Given the description of an element on the screen output the (x, y) to click on. 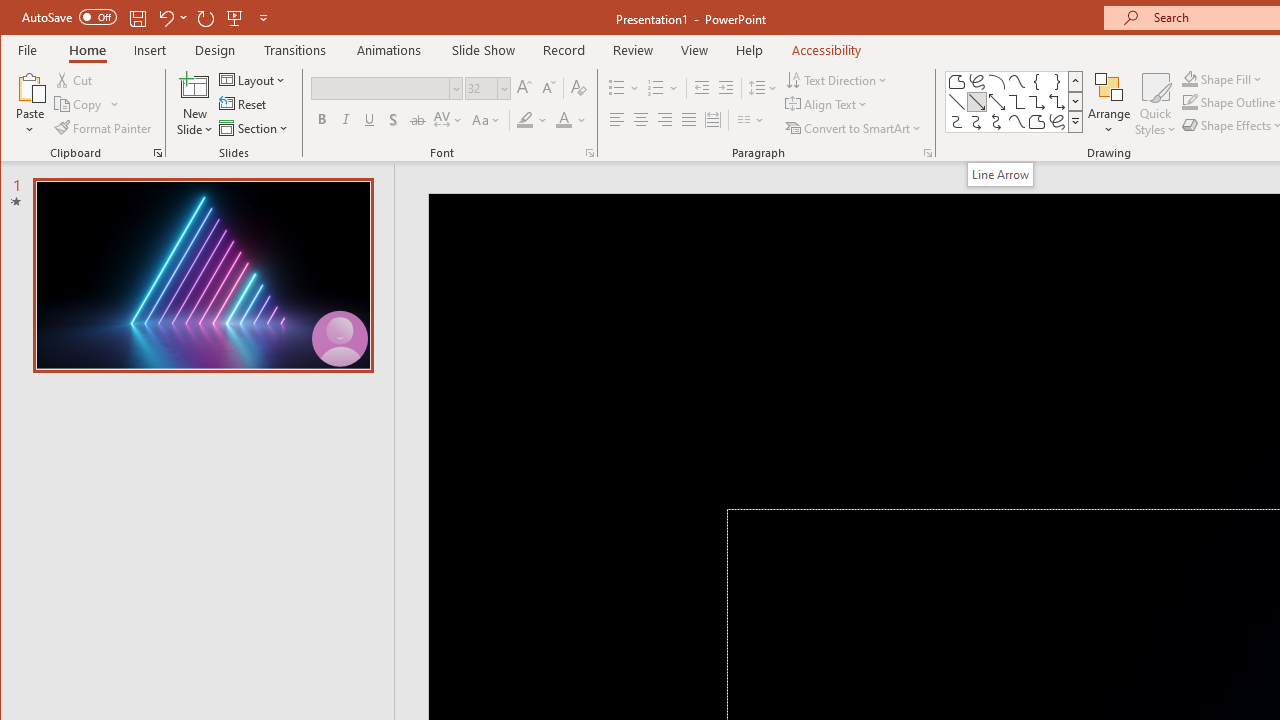
Connector: Curved Double-Arrow (996, 121)
